Given the description of an element on the screen output the (x, y) to click on. 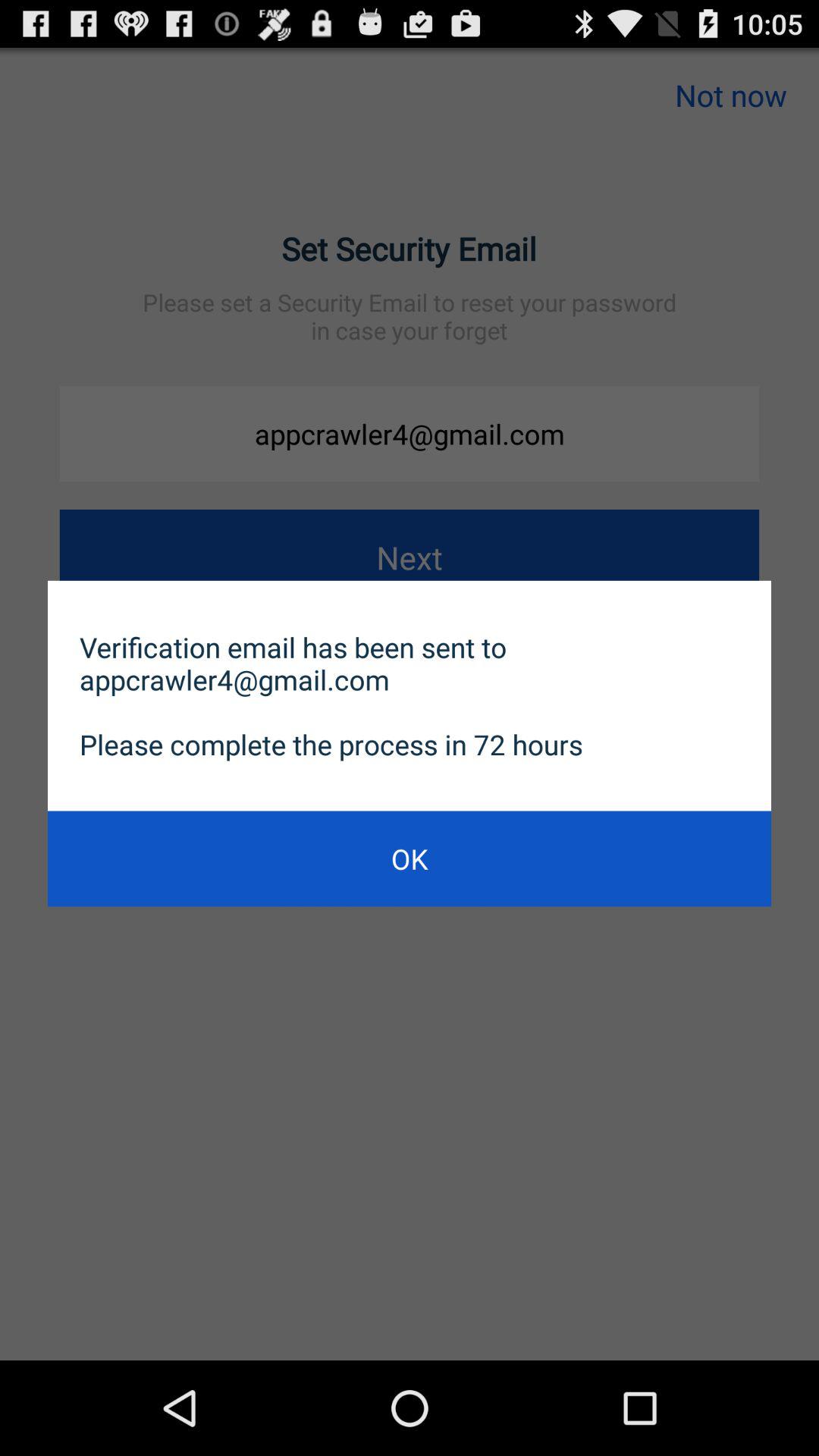
jump until ok icon (409, 858)
